Given the description of an element on the screen output the (x, y) to click on. 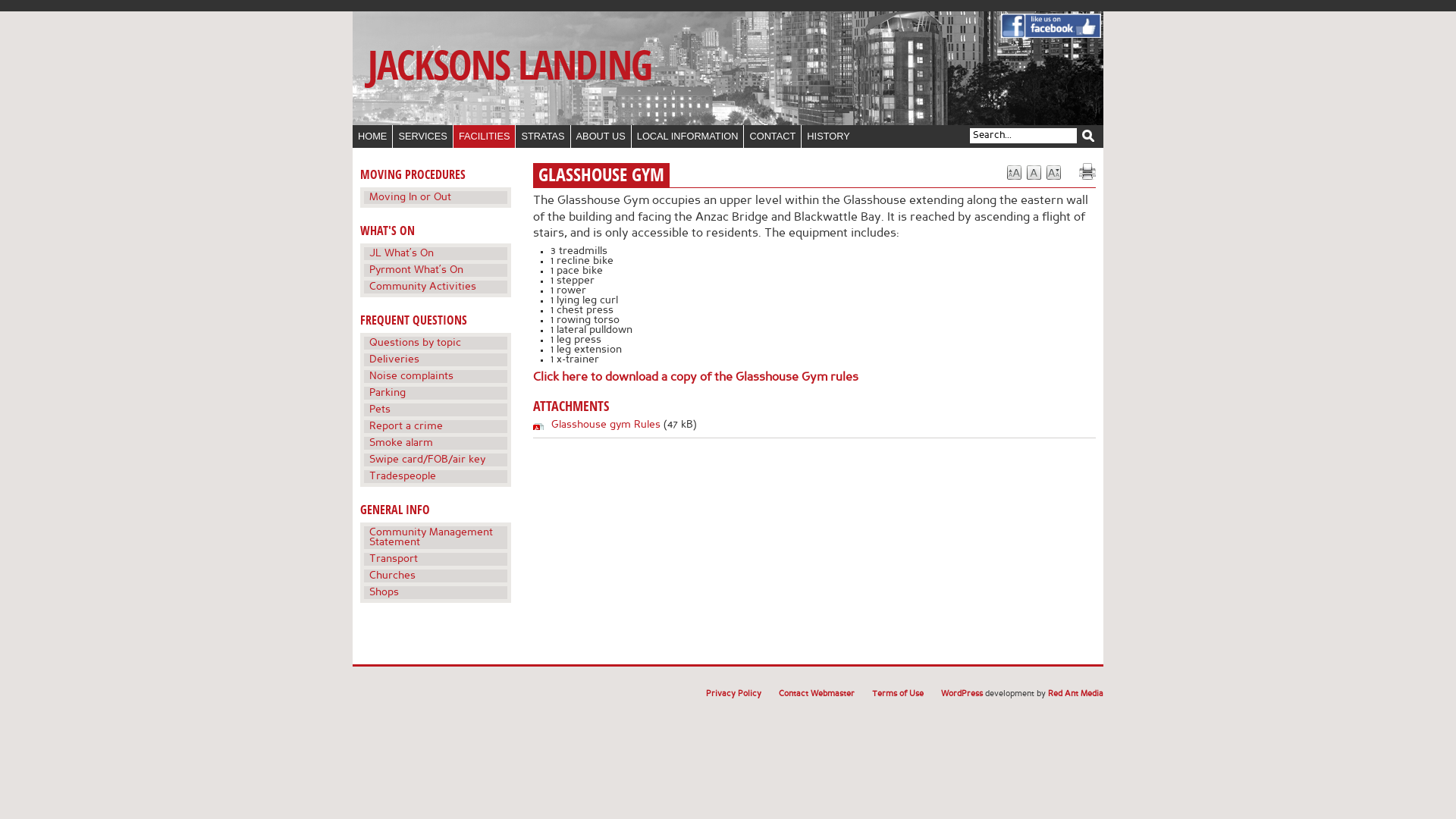
Shops Element type: text (435, 592)
Noise complaints Element type: text (435, 374)
Pets Element type: text (435, 407)
Jacksons Landing Facebook Group Element type: hover (1051, 34)
Reset Element type: text (1034, 172)
Parking Element type: text (435, 390)
Print this page Element type: hover (1087, 171)
FACILITIES Element type: text (484, 136)
LOCAL INFORMATION Element type: text (687, 136)
Moving In or Out Element type: text (435, 197)
Community Activities Element type: text (435, 286)
Smoke alarm Element type: text (435, 441)
Questions by topic Element type: text (435, 340)
Transport Element type: text (435, 557)
Churches Element type: text (435, 573)
ABOUT US Element type: text (601, 136)
Print this page Element type: text (1087, 171)
Increase Element type: text (1014, 172)
HISTORY Element type: text (827, 136)
CONTACT Element type: text (772, 136)
HOME Element type: text (372, 136)
JACKSONS LANDING Element type: text (509, 66)
SERVICES Element type: text (422, 136)
STRATAS Element type: text (542, 136)
Privacy Policy Element type: text (733, 694)
Terms of Use Element type: text (897, 694)
Decrease Element type: text (1053, 172)
Red Ant Media Element type: text (1075, 694)
Deliveries Element type: text (435, 357)
Contact Webmaster Element type: text (816, 694)
Tradespeople Element type: text (435, 476)
Report a crime Element type: text (435, 424)
Community Management Statement Element type: text (435, 535)
Click here to download a copy of the Glasshouse Gym rules Element type: text (695, 377)
Glasshouse gym Rules Element type: text (605, 424)
WordPress Element type: text (961, 694)
Swipe card/FOB/air key Element type: text (435, 457)
